Given the description of an element on the screen output the (x, y) to click on. 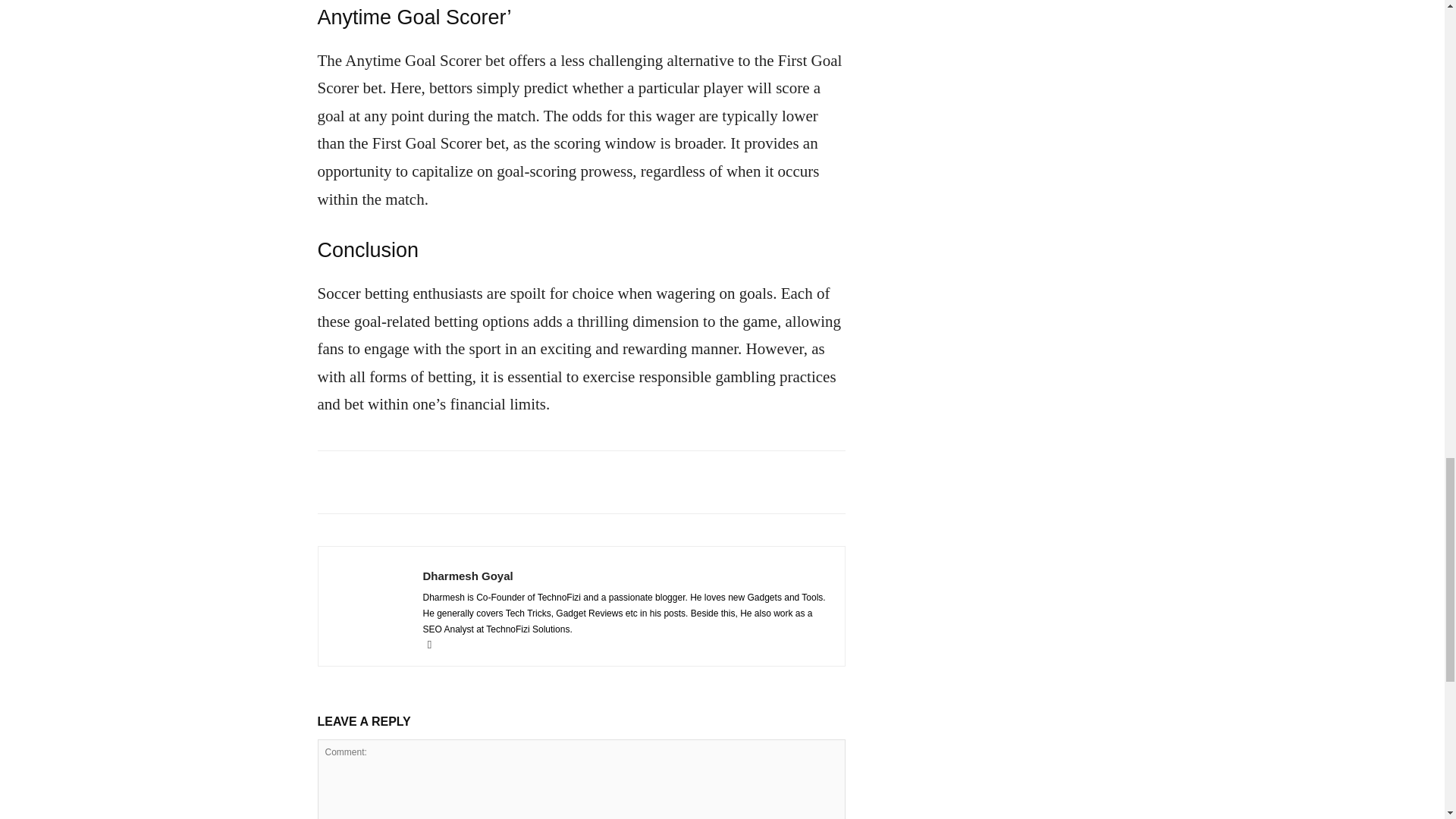
Facebook (435, 644)
